Given the description of an element on the screen output the (x, y) to click on. 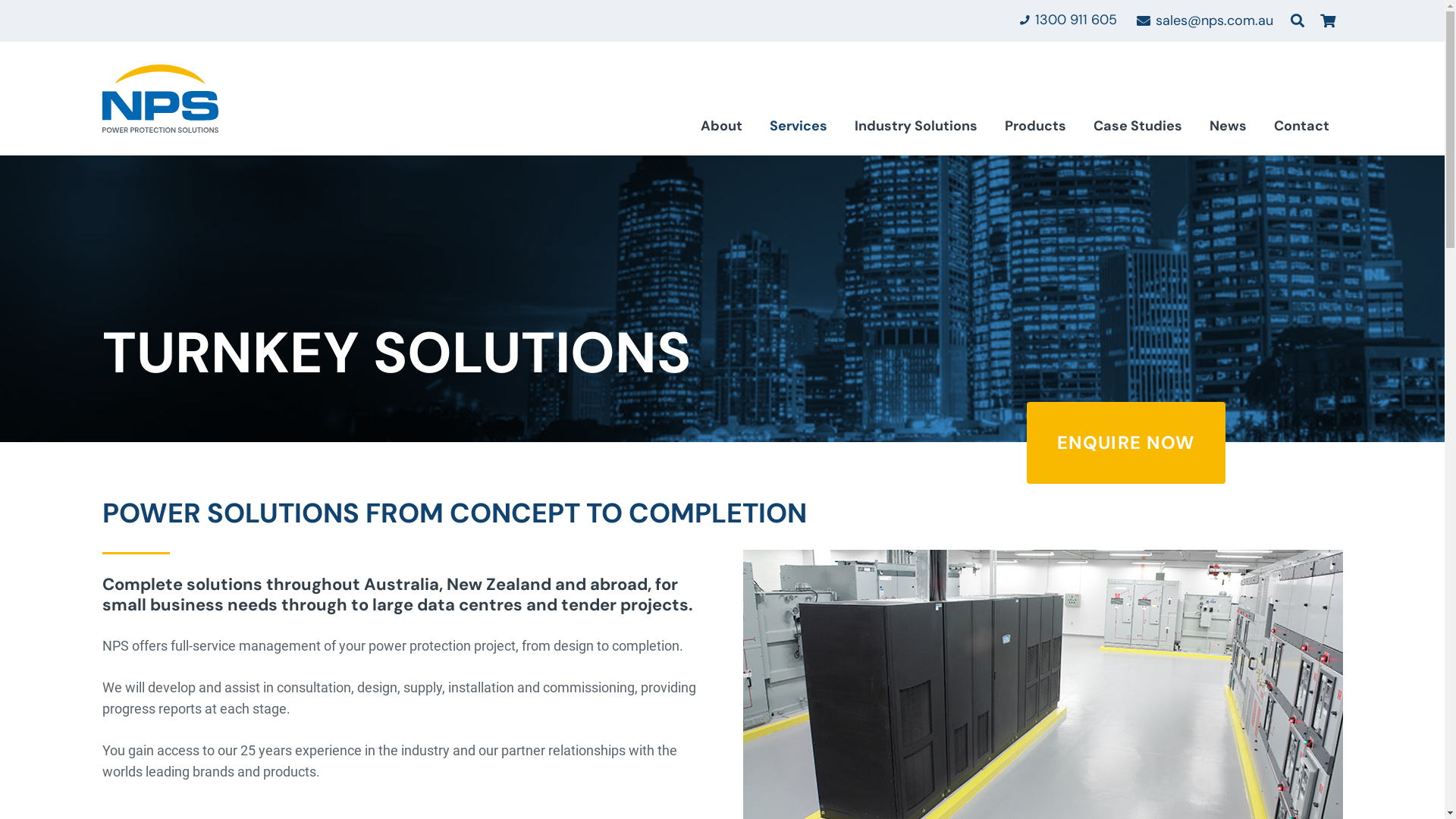
Contact Element type: text (1301, 130)
Services Element type: text (797, 130)
ENQUIRE NOW Element type: text (1125, 442)
Products Element type: text (1034, 130)
sales@nps.com.au Element type: text (1204, 20)
0 Element type: text (1327, 20)
About Element type: text (721, 130)
Industry Solutions Element type: text (915, 130)
News Element type: text (1227, 130)
Case Studies Element type: text (1137, 130)
1300 911 605 Element type: text (1068, 19)
